Given the description of an element on the screen output the (x, y) to click on. 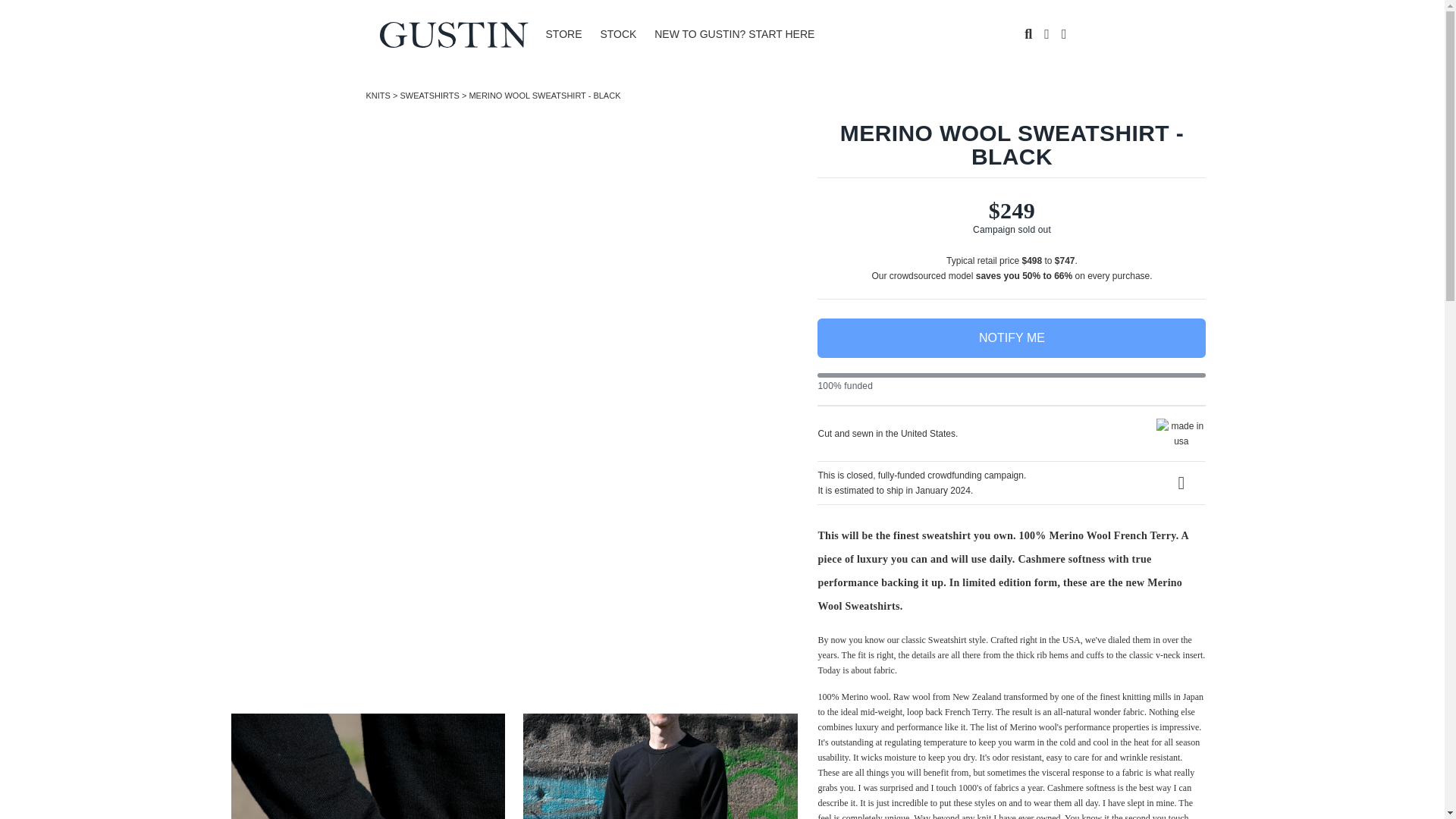
STORE (563, 34)
STOCK (617, 34)
Artboard 1 (453, 33)
NEW TO GUSTIN? START HERE (734, 34)
Artboard 1 (453, 33)
